Given the description of an element on the screen output the (x, y) to click on. 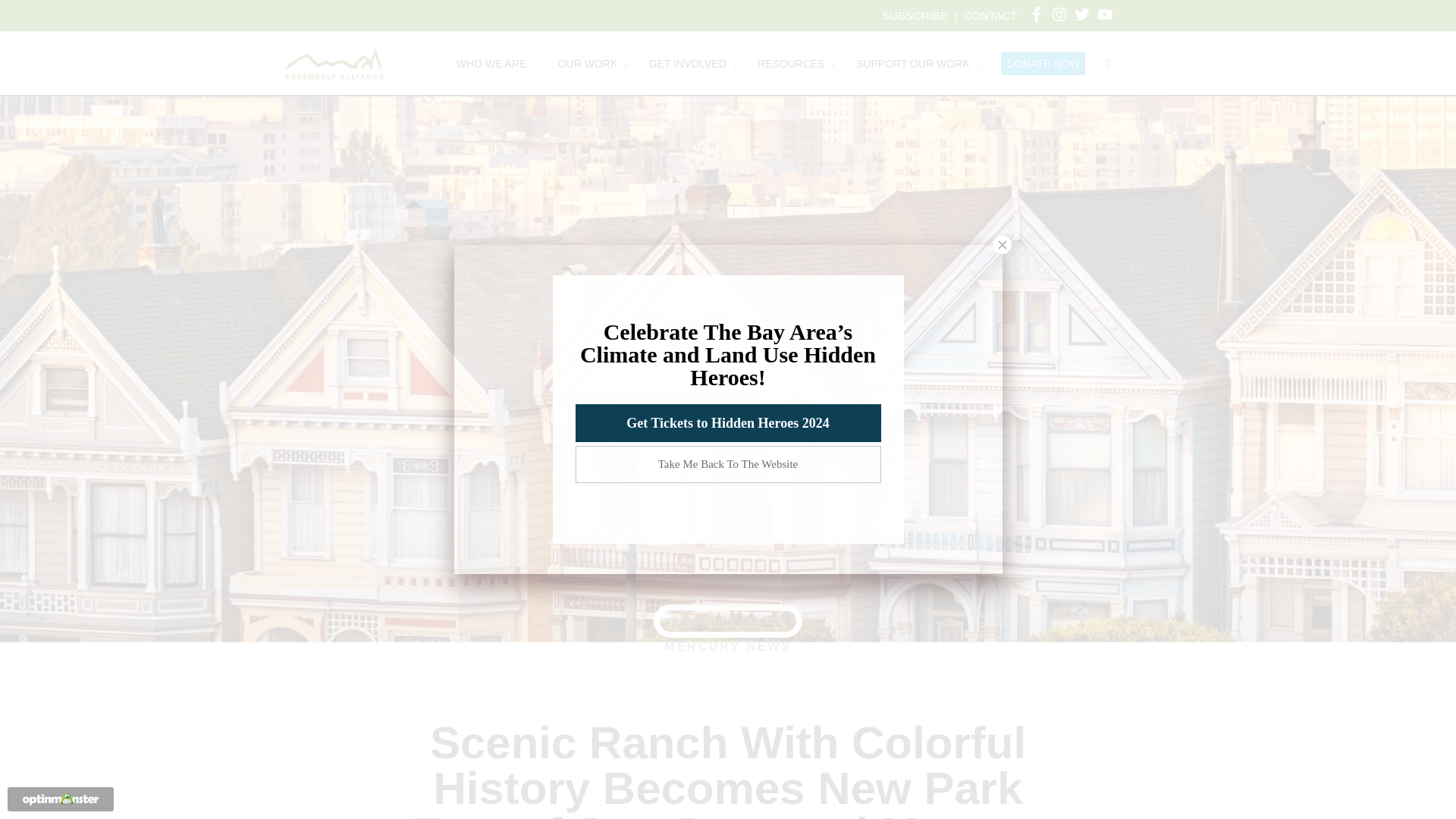
CONTACT (989, 15)
SUBSCRIBE (914, 15)
WHO WE ARE (496, 63)
Close (1001, 244)
Get Tickets to Hidden Heroes 2024 (727, 423)
Powered by OptinMonster (61, 799)
Take Me Back To The Website (727, 464)
GET INVOLVED (692, 63)
OUR WORK (593, 63)
